Given the description of an element on the screen output the (x, y) to click on. 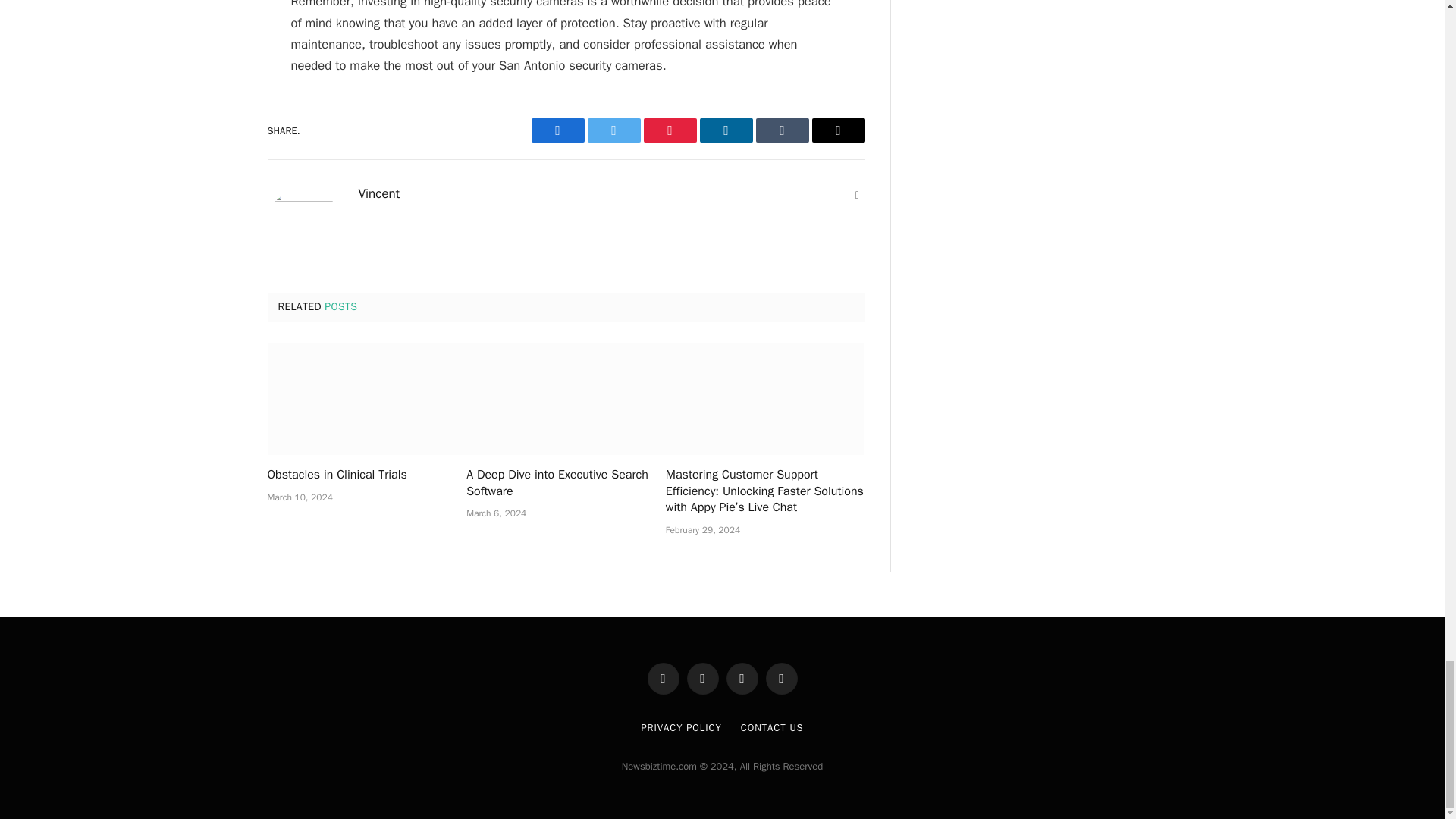
Twitter (613, 129)
Facebook (557, 129)
